Given the description of an element on the screen output the (x, y) to click on. 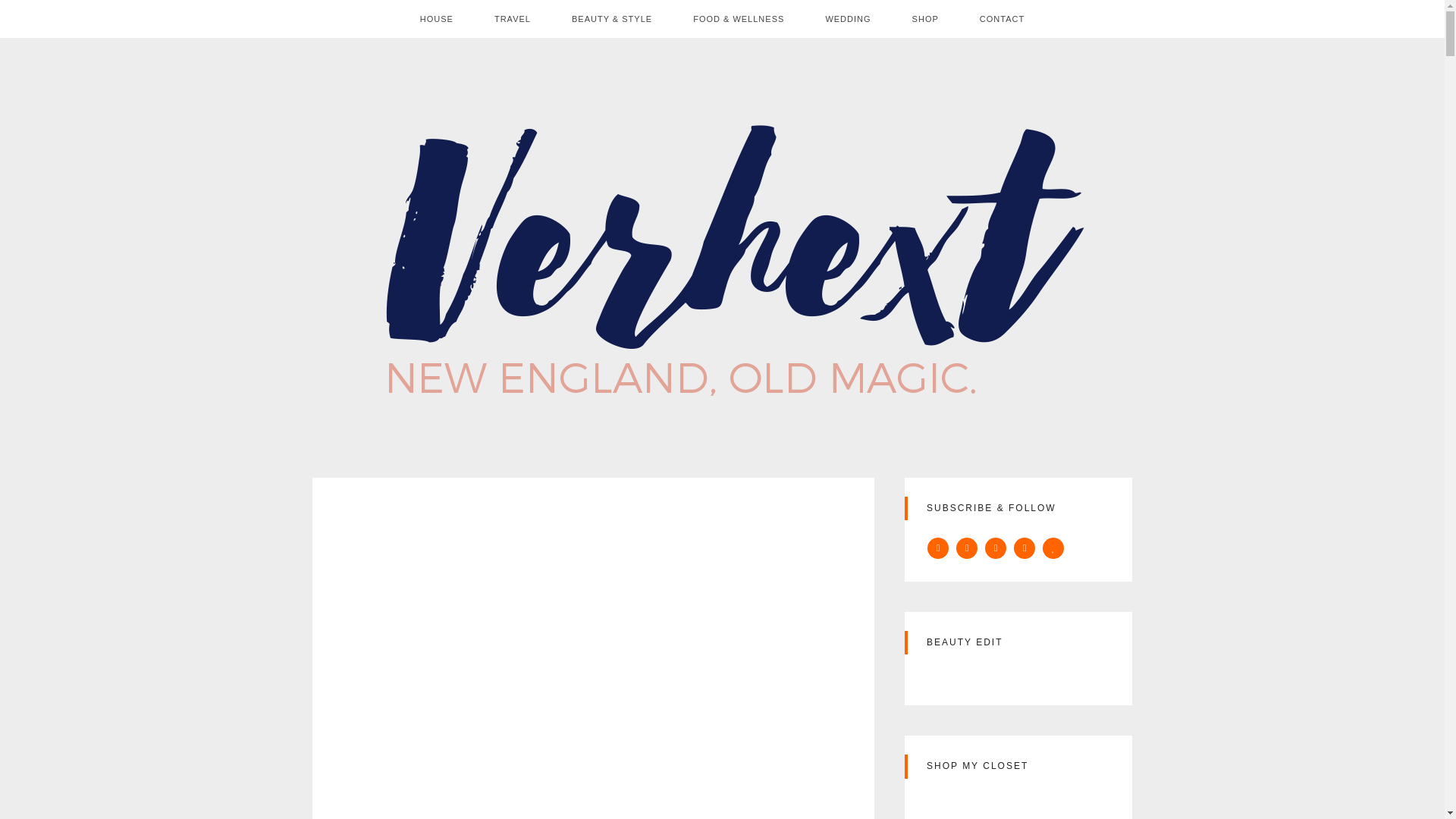
TRAVEL (513, 18)
SHOP (925, 18)
WEDDING (847, 18)
HOUSE (436, 18)
CONTACT (1001, 18)
